Given the description of an element on the screen output the (x, y) to click on. 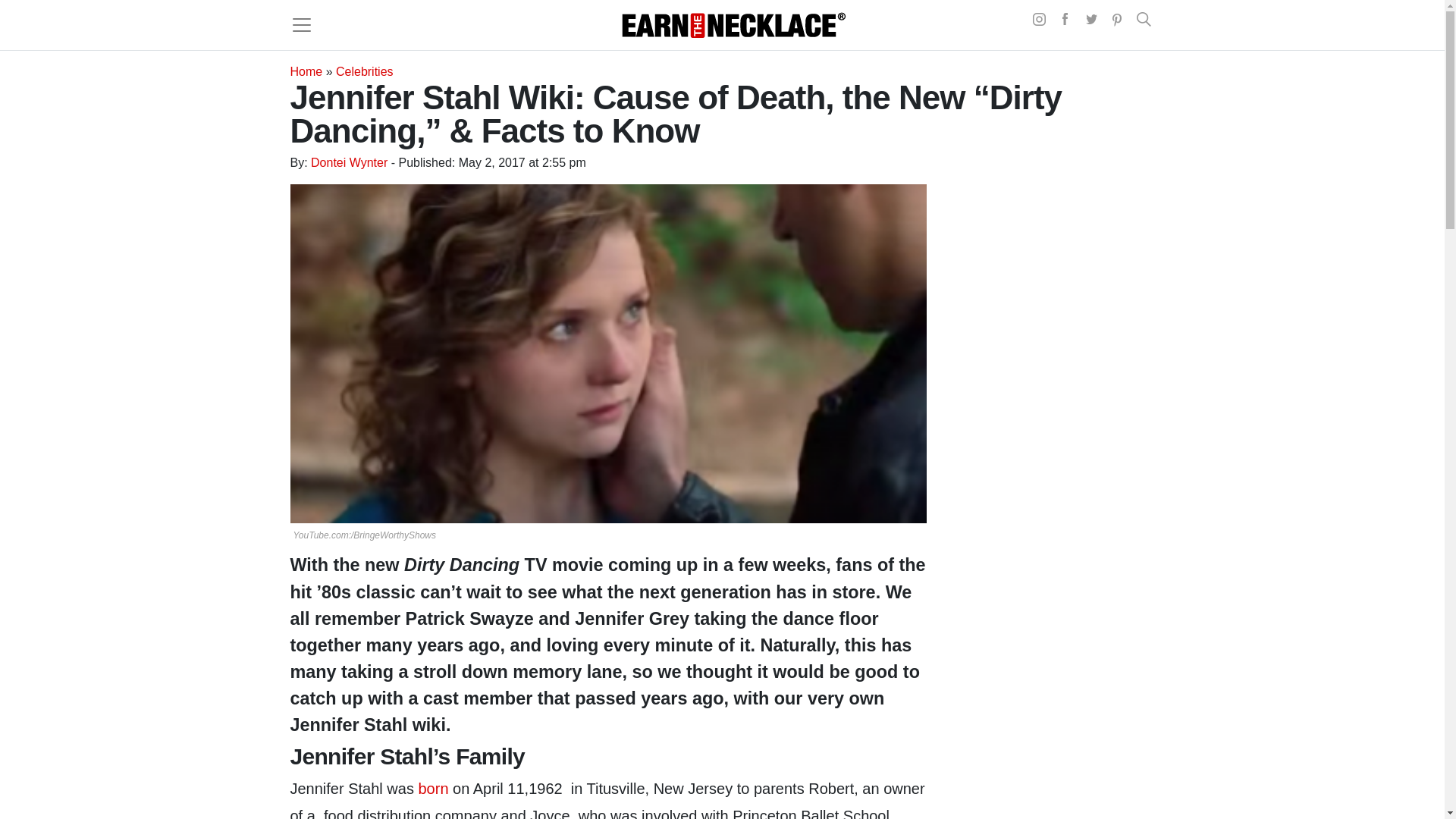
Menu (301, 24)
born (432, 788)
Celebrities (364, 71)
Posts by Dontei Wynter (349, 162)
Dontei Wynter (349, 162)
Home (305, 71)
